Given the description of an element on the screen output the (x, y) to click on. 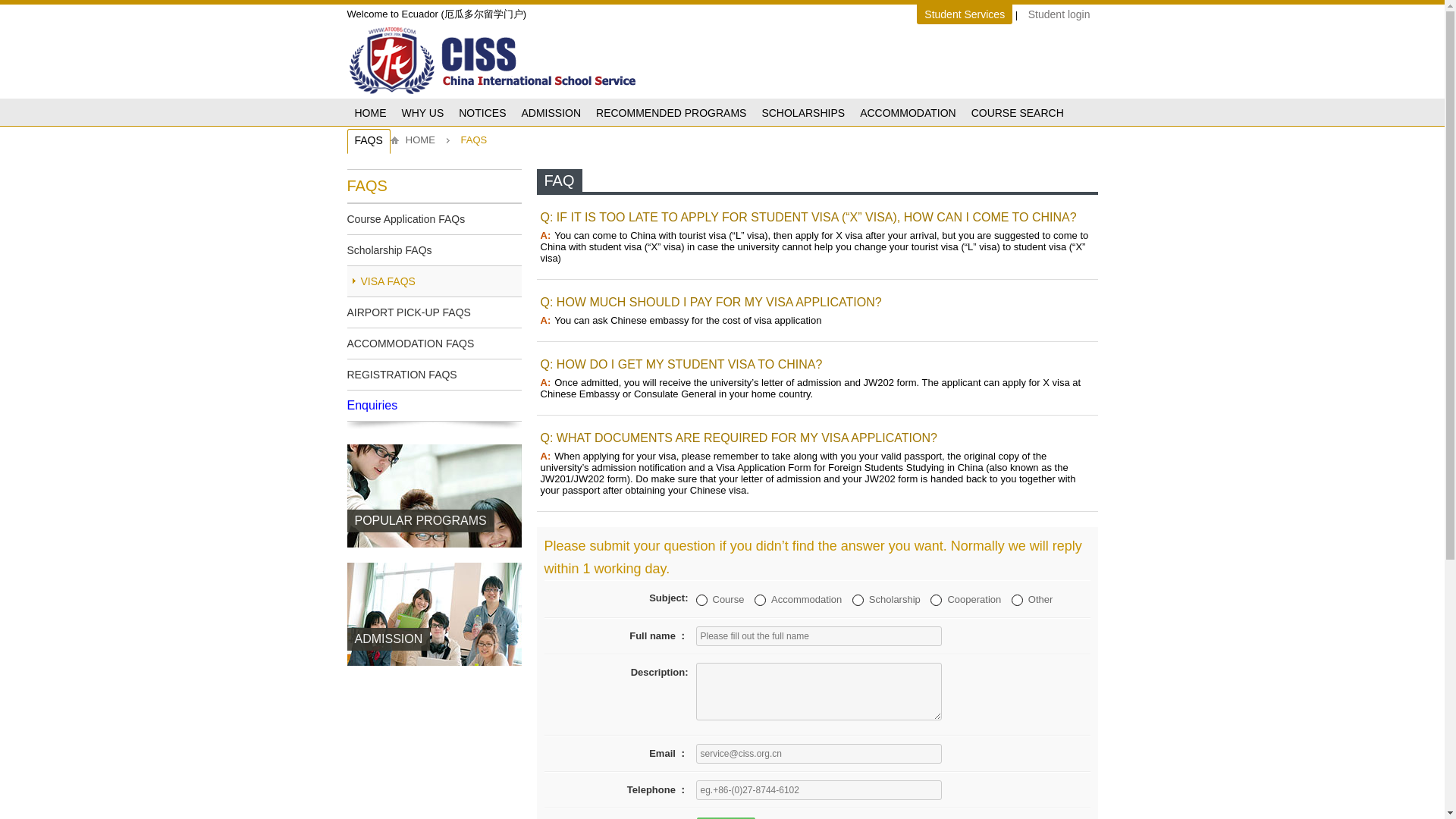
ADMISSION (434, 677)
Submit (725, 817)
Q: WHAT DOCUMENTS ARE REQUIRED FOR MY VISA APPLICATION? (738, 437)
FAQS (368, 140)
ACCOMMODATION (907, 113)
Course Application FAQs (434, 218)
Enquiries (434, 405)
Student login (1058, 14)
on (936, 600)
WHY US (422, 113)
SCHOLARSHIPS (802, 113)
NOTICES (482, 113)
on (1017, 600)
Submit (725, 817)
ADMISSION (550, 113)
